Given the description of an element on the screen output the (x, y) to click on. 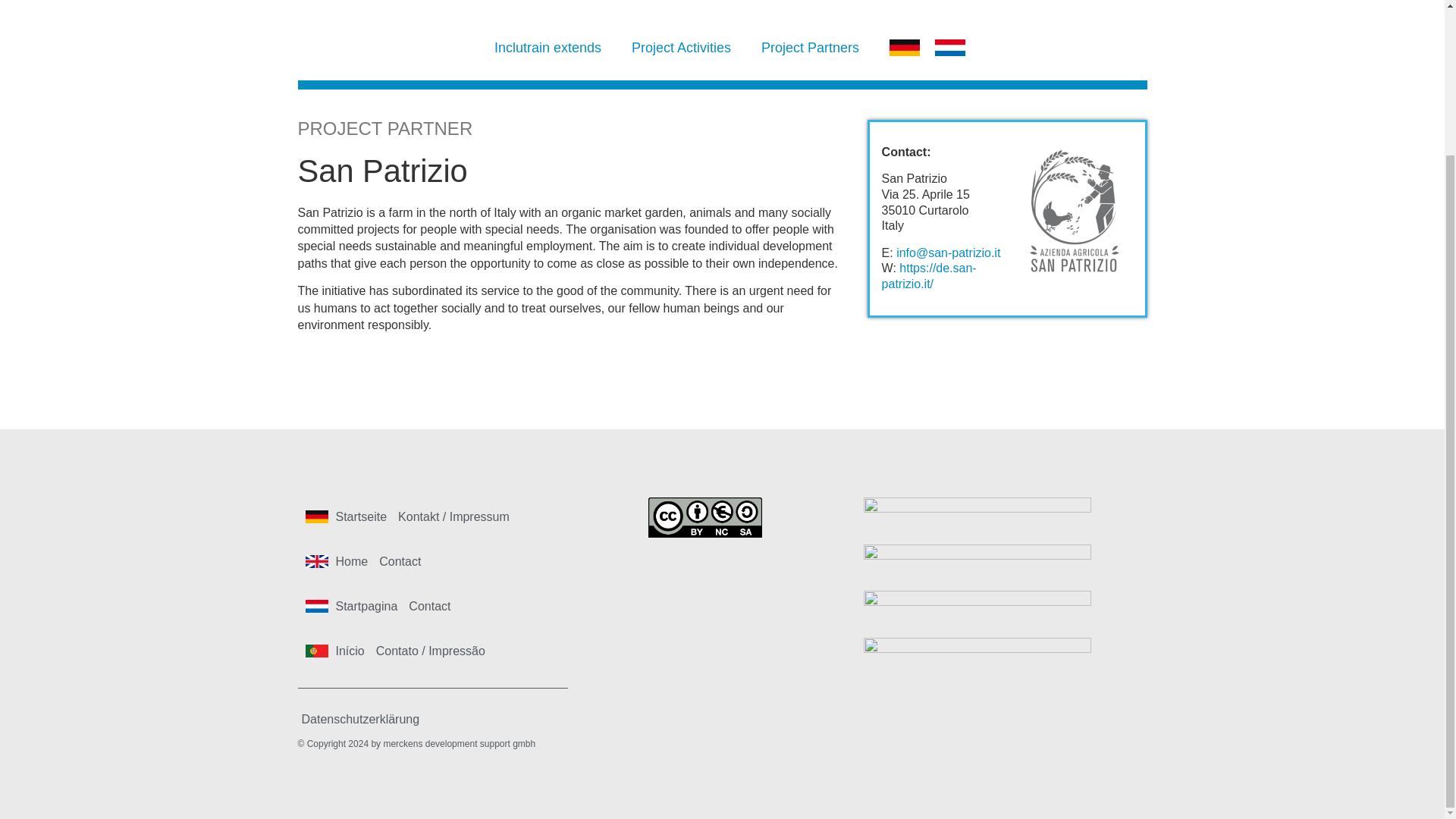
Home (351, 560)
Project Partners (810, 47)
Inclutrain extends (547, 47)
Project Activities (680, 47)
Startseite (361, 516)
